Given the description of an element on the screen output the (x, y) to click on. 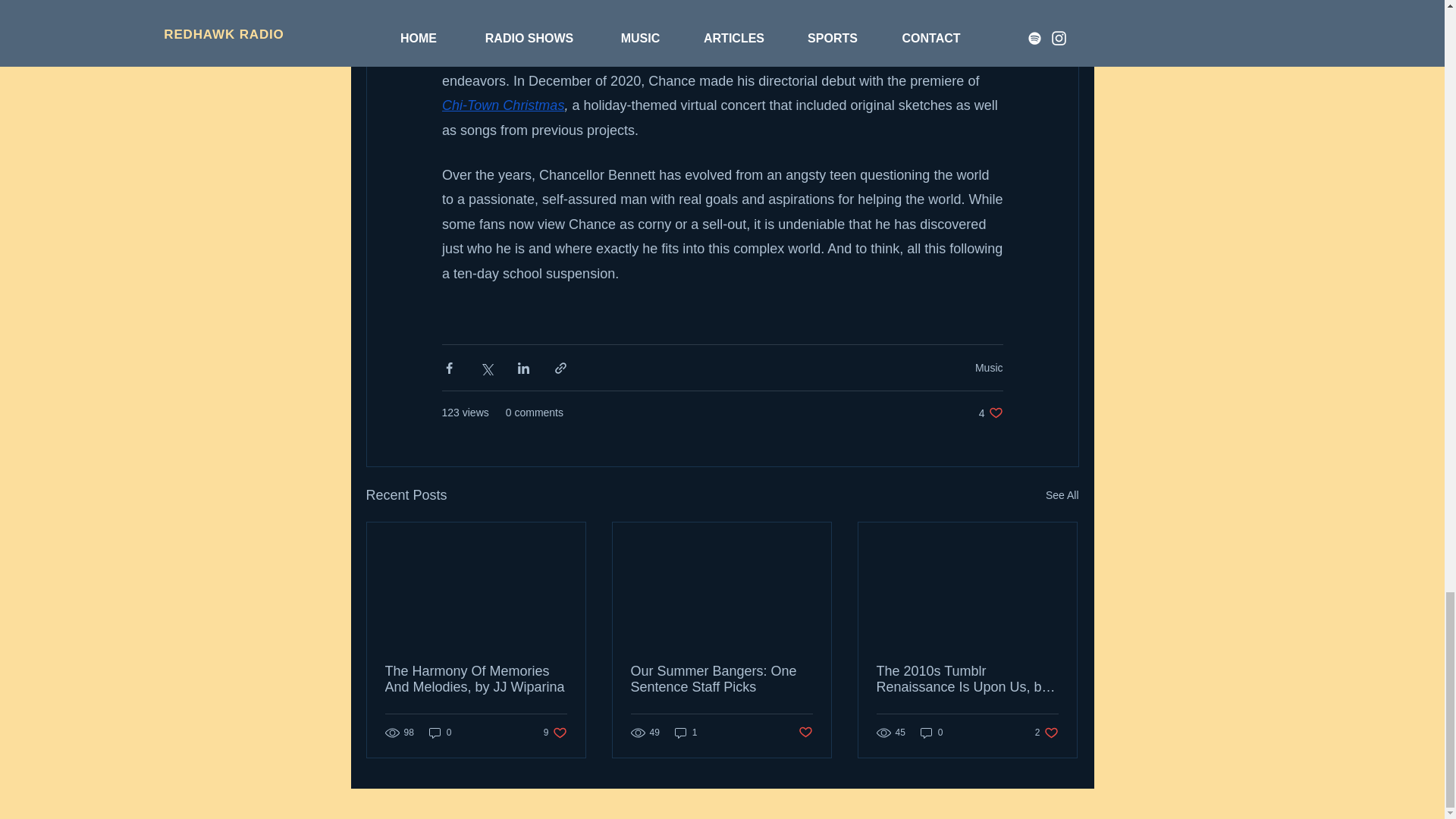
Bad Idea (676, 56)
Holy (547, 56)
Chi-Town Christmas (502, 105)
